Given the description of an element on the screen output the (x, y) to click on. 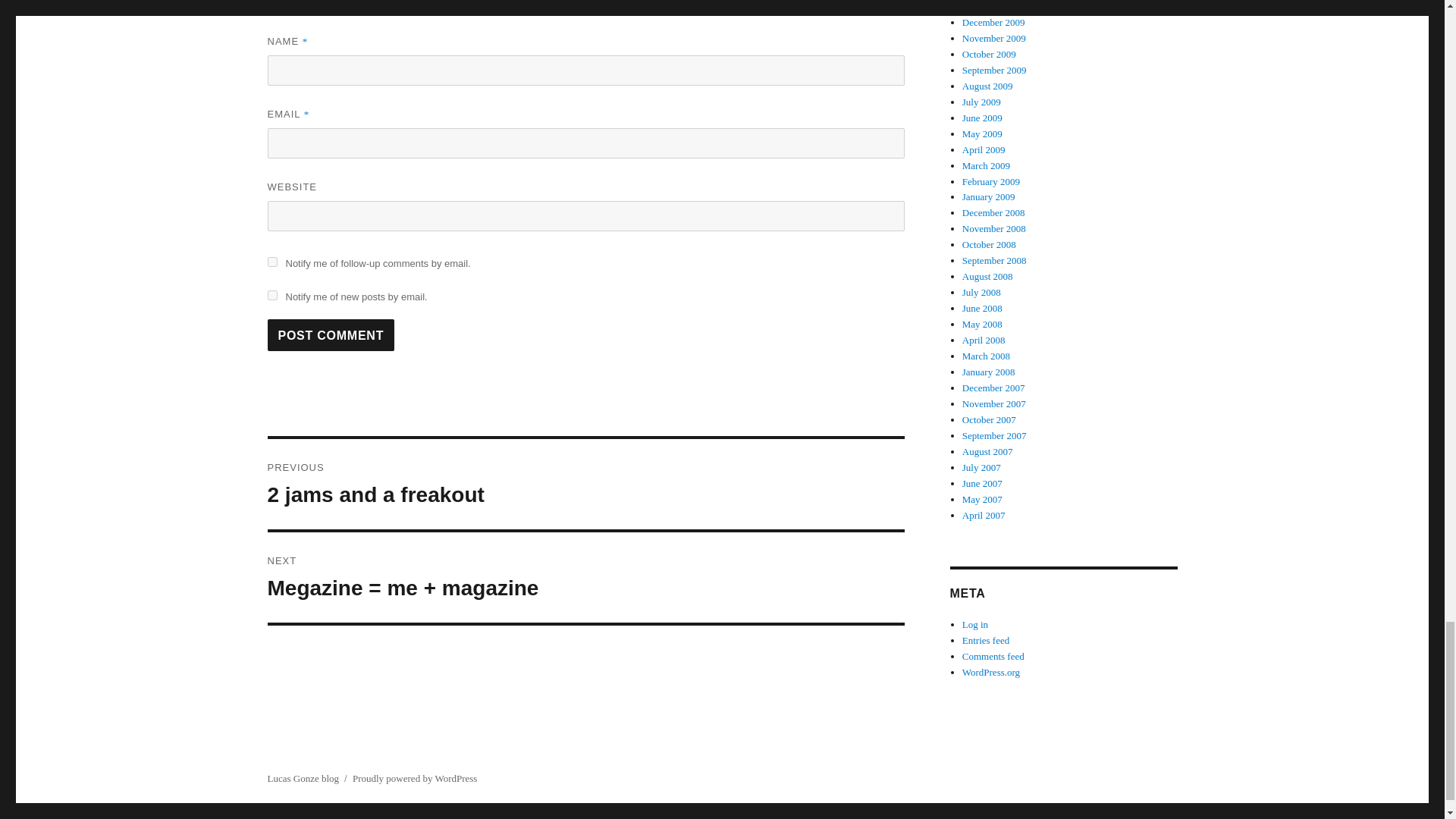
subscribe (271, 261)
Post Comment (330, 335)
subscribe (271, 295)
Post Comment (585, 483)
